Given the description of an element on the screen output the (x, y) to click on. 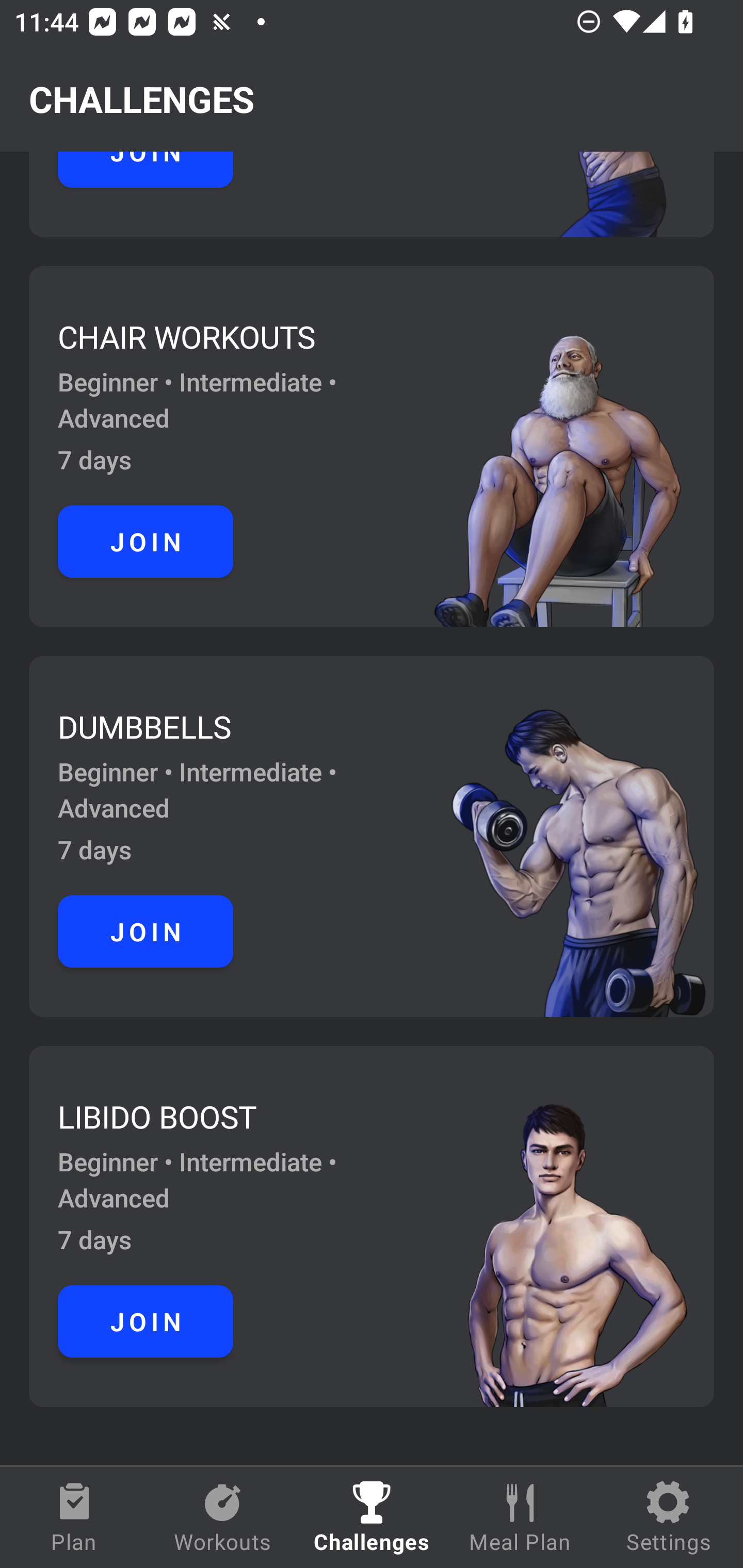
JOIN (145, 541)
JOIN (145, 931)
JOIN (145, 1320)
 Plan  (74, 1517)
 Workouts  (222, 1517)
 Meal Plan  (519, 1517)
 Settings  (668, 1517)
